Given the description of an element on the screen output the (x, y) to click on. 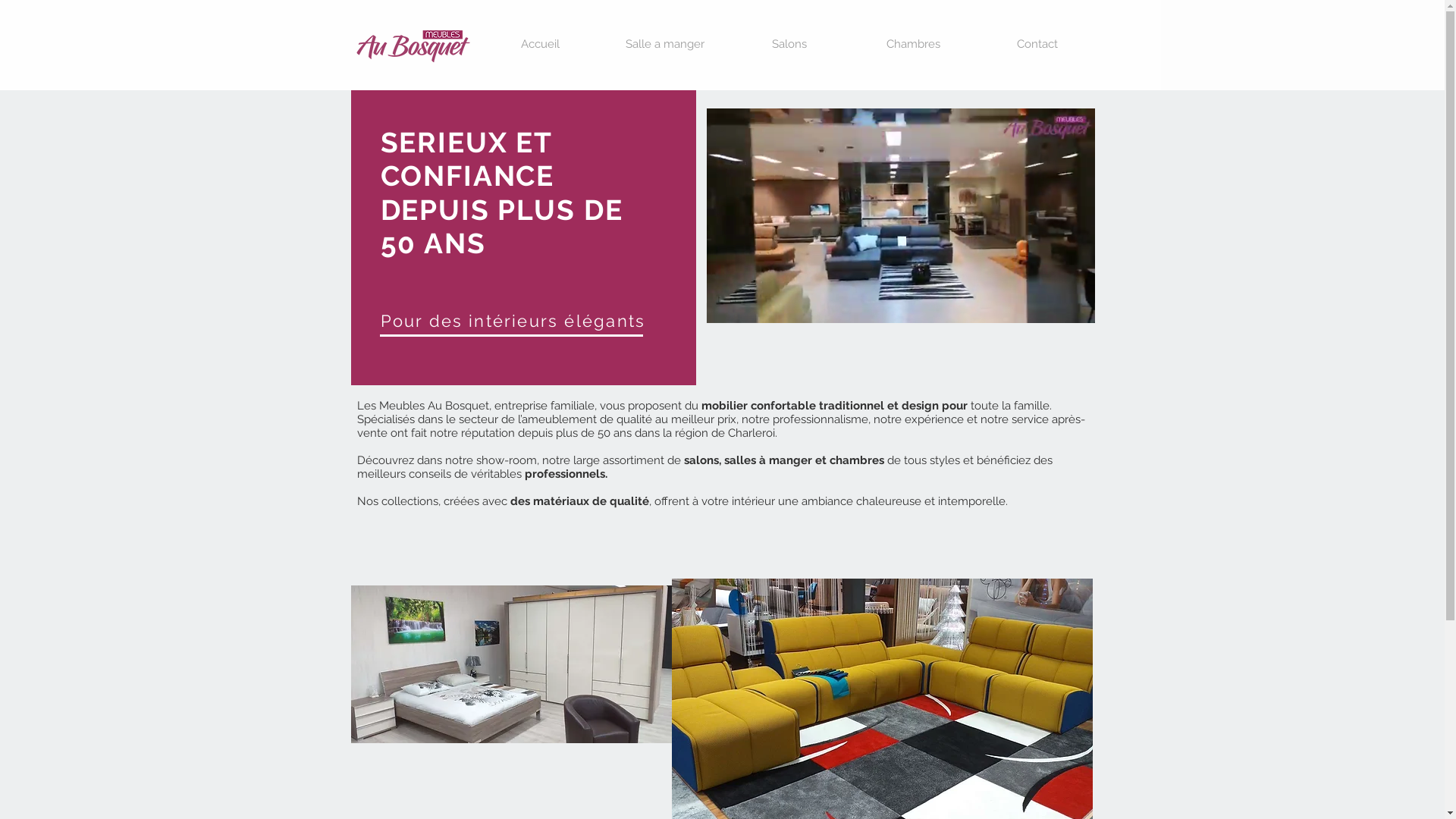
20210331_131645_edited.jpg Element type: hover (510, 664)
salons Element type: text (701, 460)
Salle a manger Element type: text (664, 44)
chambres Element type: text (856, 460)
Accueil Element type: text (539, 44)
Salons Element type: text (788, 44)
Chambres Element type: text (912, 44)
Contact Element type: text (1036, 44)
